Given the description of an element on the screen output the (x, y) to click on. 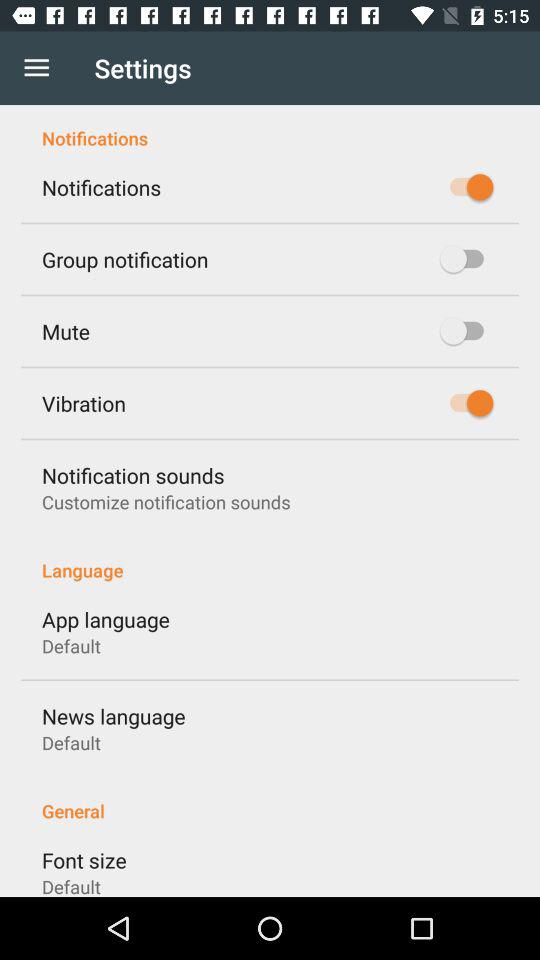
swipe to the group notification (125, 259)
